Given the description of an element on the screen output the (x, y) to click on. 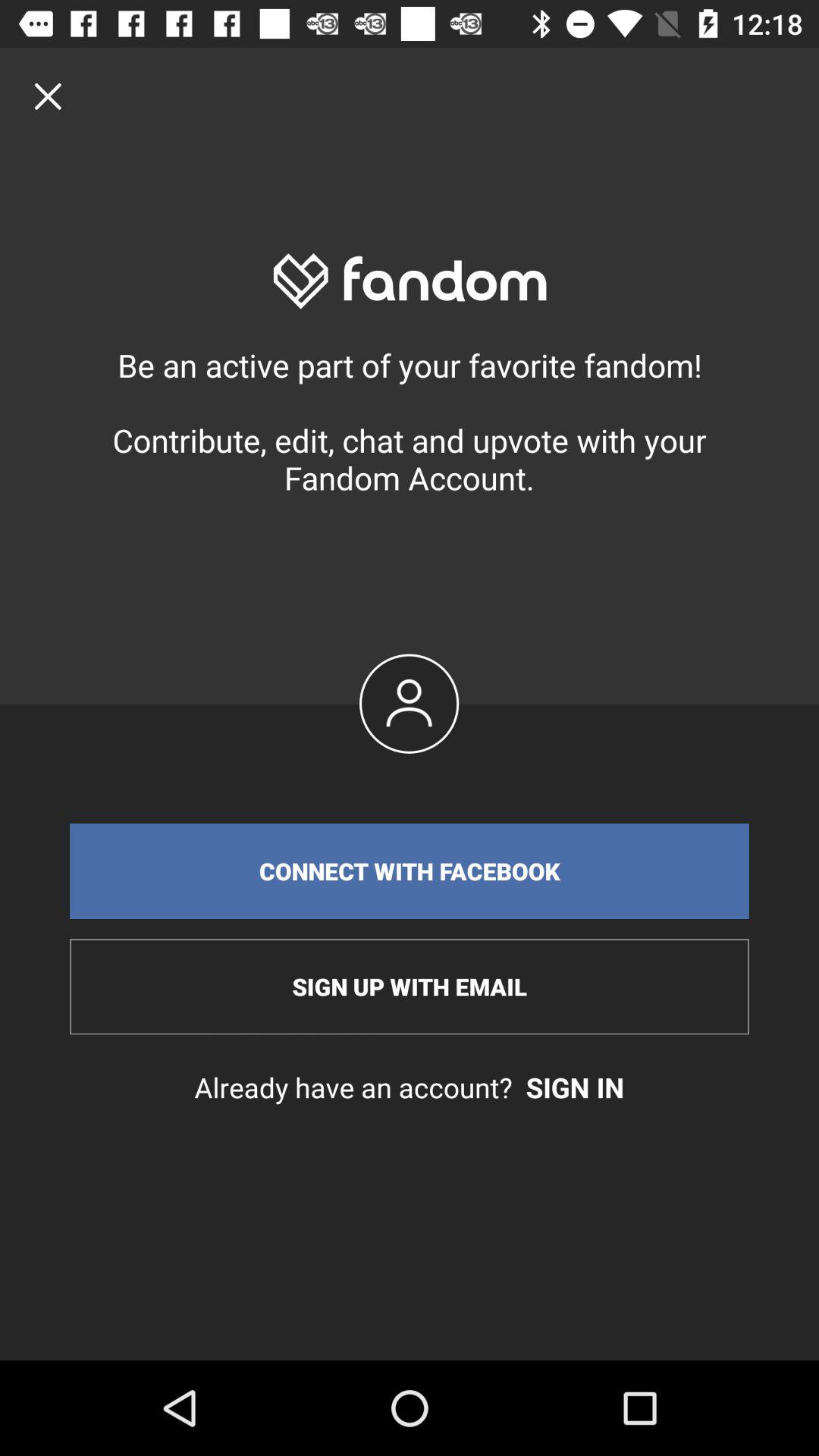
jump until the connect with facebook (409, 871)
